Given the description of an element on the screen output the (x, y) to click on. 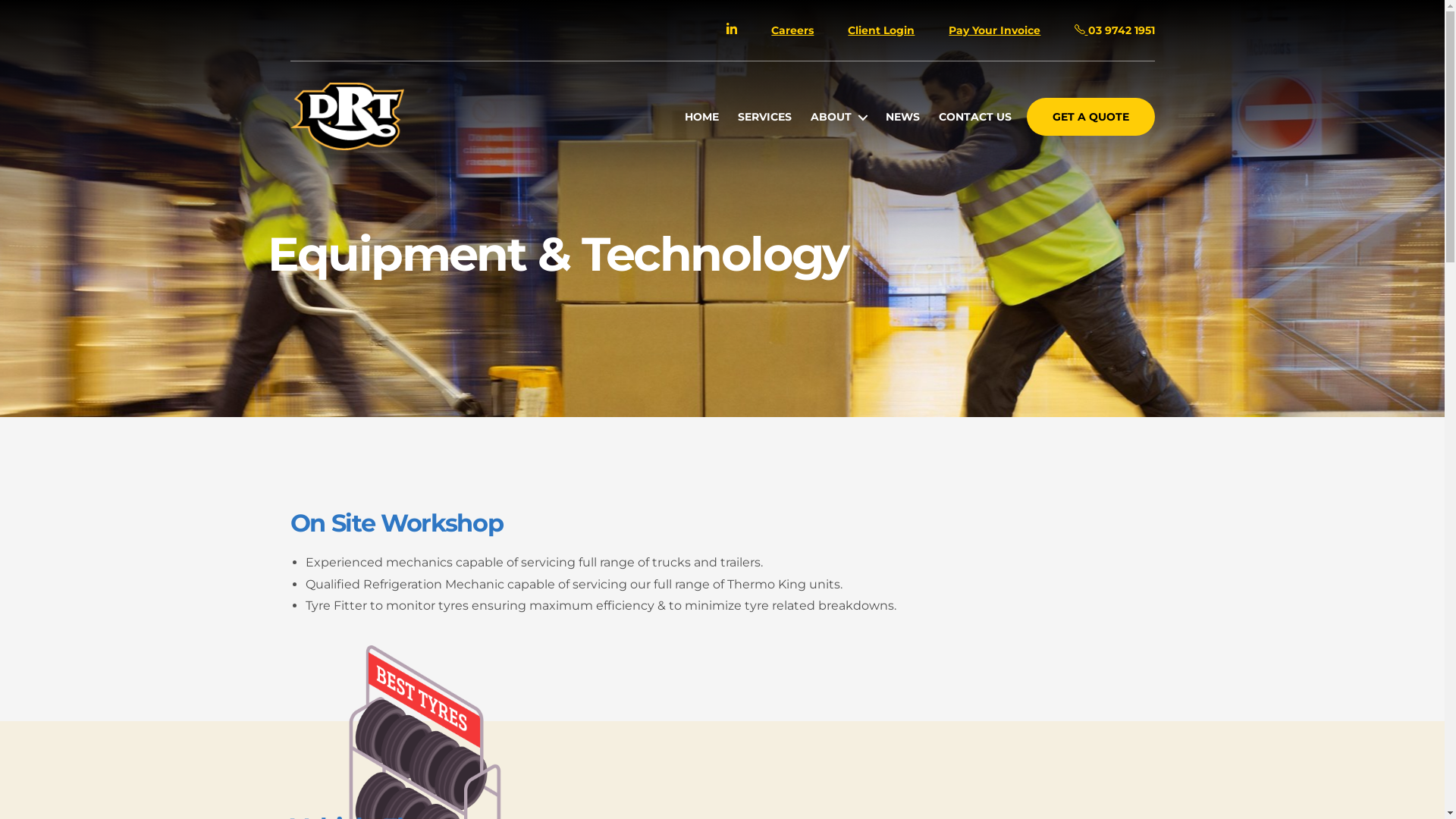
CONTACT US Element type: text (974, 116)
ABOUT Element type: text (838, 116)
Careers Element type: text (792, 30)
NEWS Element type: text (902, 116)
Client Login Element type: text (880, 30)
SERVICES Element type: text (764, 116)
HOME Element type: text (701, 116)
GET A QUOTE Element type: text (1090, 116)
03 9742 1951 Element type: text (1114, 30)
Pay Your Invoice Element type: text (994, 30)
